Given the description of an element on the screen output the (x, y) to click on. 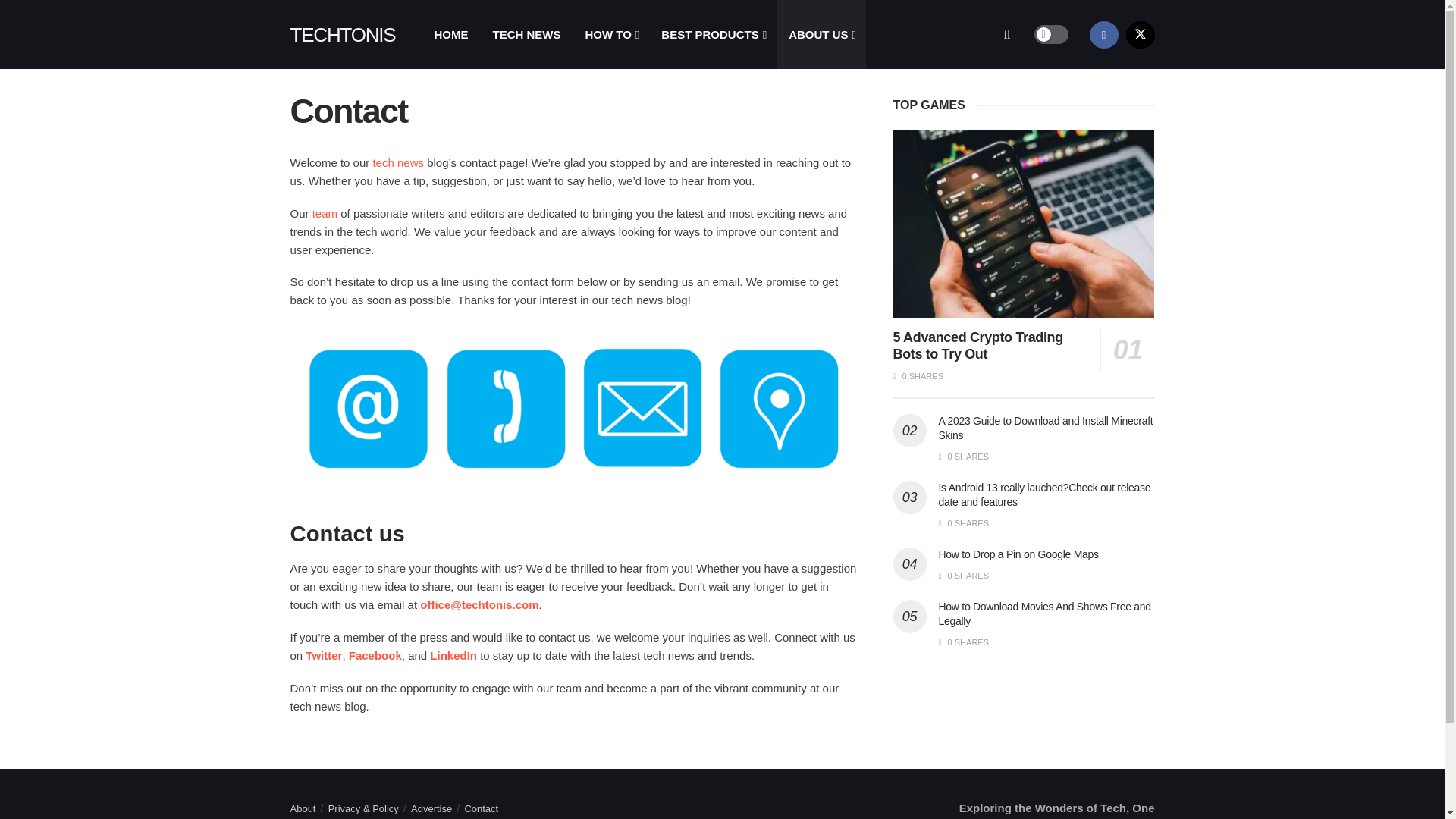
ABOUT US (821, 34)
TECHTONIS (341, 34)
5 Advanced Crypto Trading Bots to Try Out 2 (1023, 223)
BEST PRODUCTS (712, 34)
Contact 1 (574, 409)
HOW TO (610, 34)
TECH NEWS (526, 34)
